Given the description of an element on the screen output the (x, y) to click on. 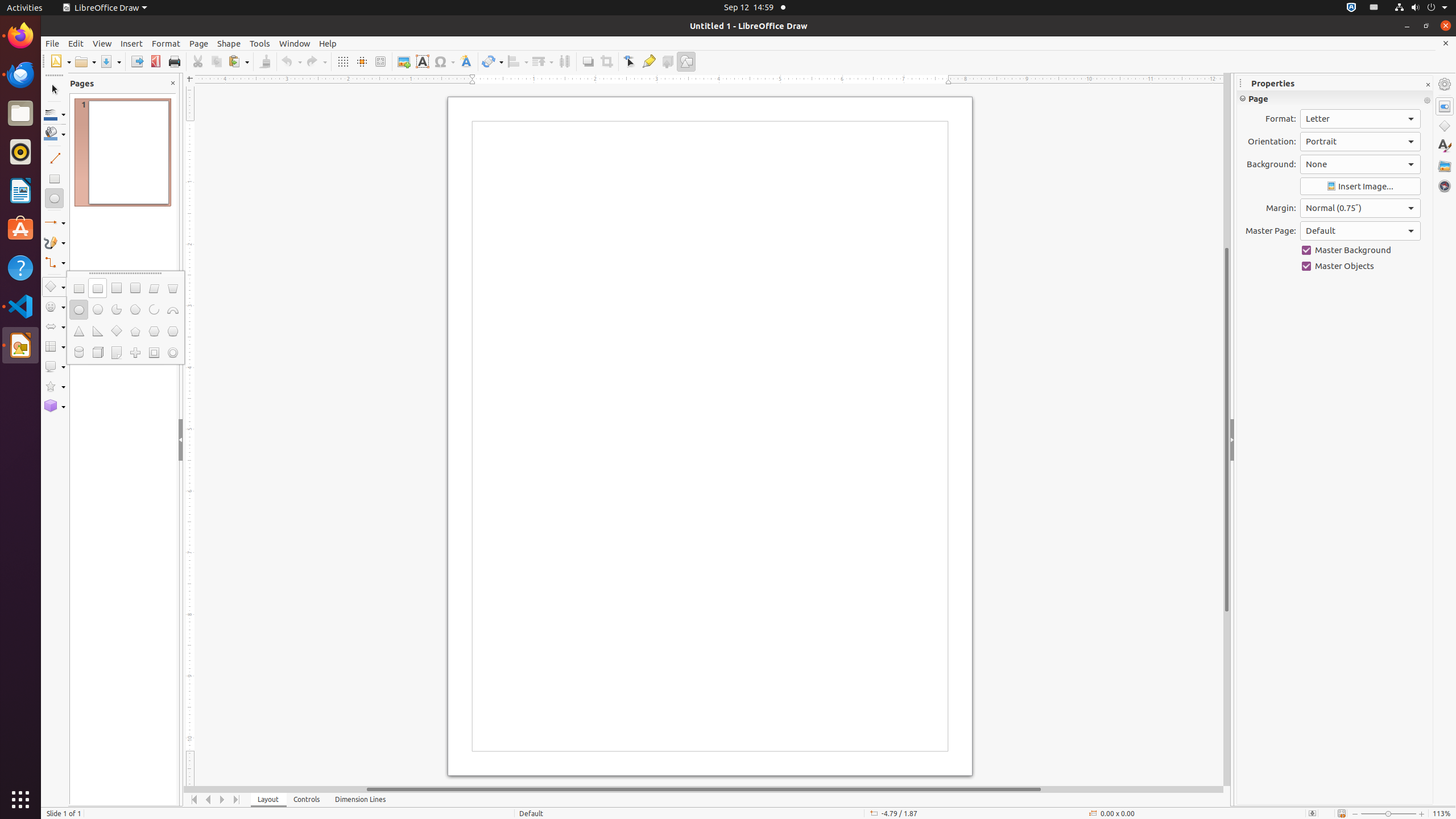
Files Element type: push-button (20, 113)
Shape Element type: menu (228, 43)
Distribution Element type: push-button (564, 61)
Copy Element type: push-button (216, 61)
Clone Element type: push-button (264, 61)
